Given the description of an element on the screen output the (x, y) to click on. 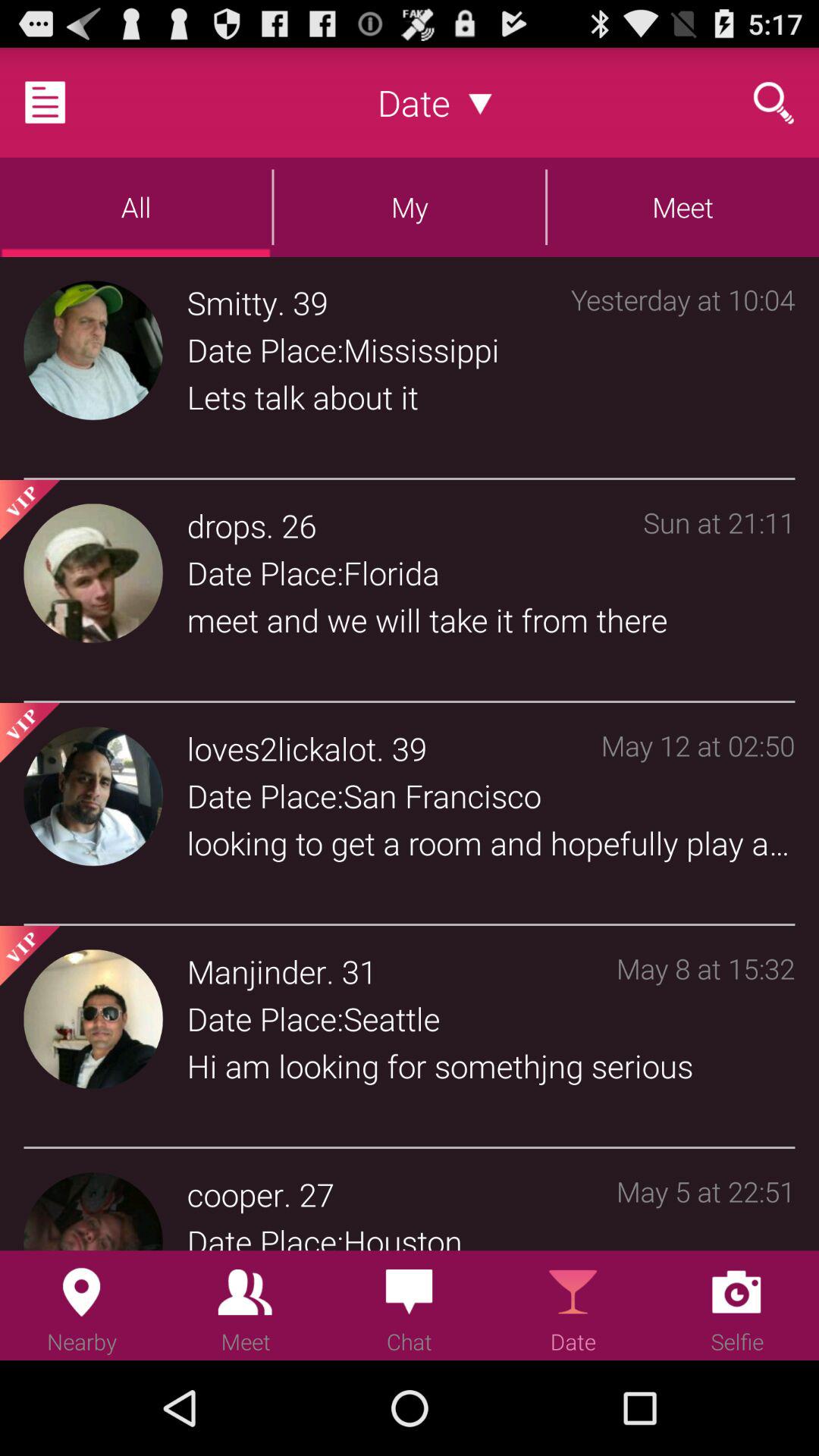
turn off cooper item (235, 1193)
